Given the description of an element on the screen output the (x, y) to click on. 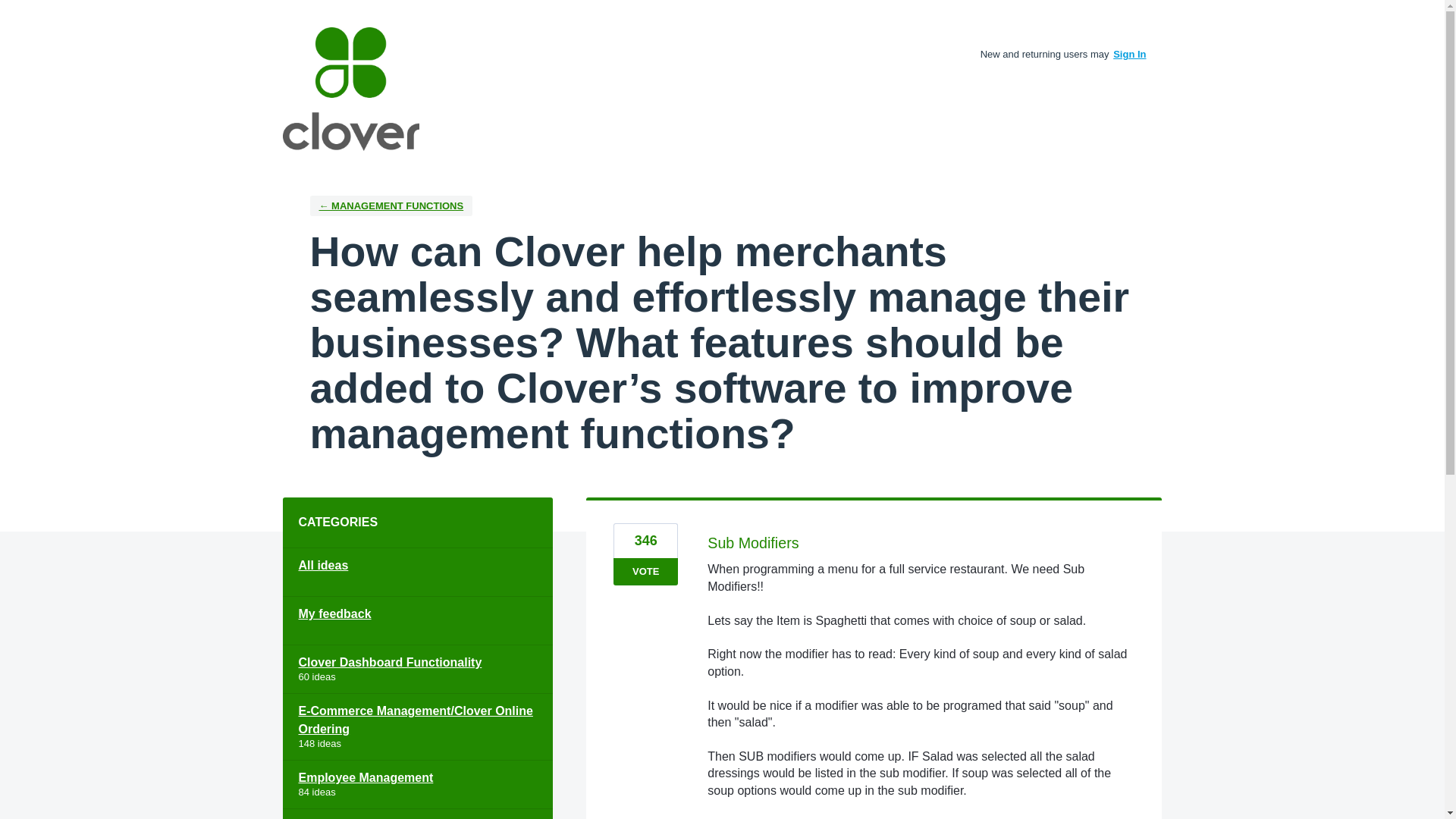
View all ideas in category Clover Dashboard Functionality (417, 669)
View all ideas in category Employee Management (417, 784)
Clover UserVoice (350, 88)
My feedback (417, 621)
Sign In (1129, 53)
Employee Management (417, 784)
Skip to content (12, 12)
All ideas (417, 572)
Clover Dashboard Functionality (417, 669)
VOTE (645, 571)
